Given the description of an element on the screen output the (x, y) to click on. 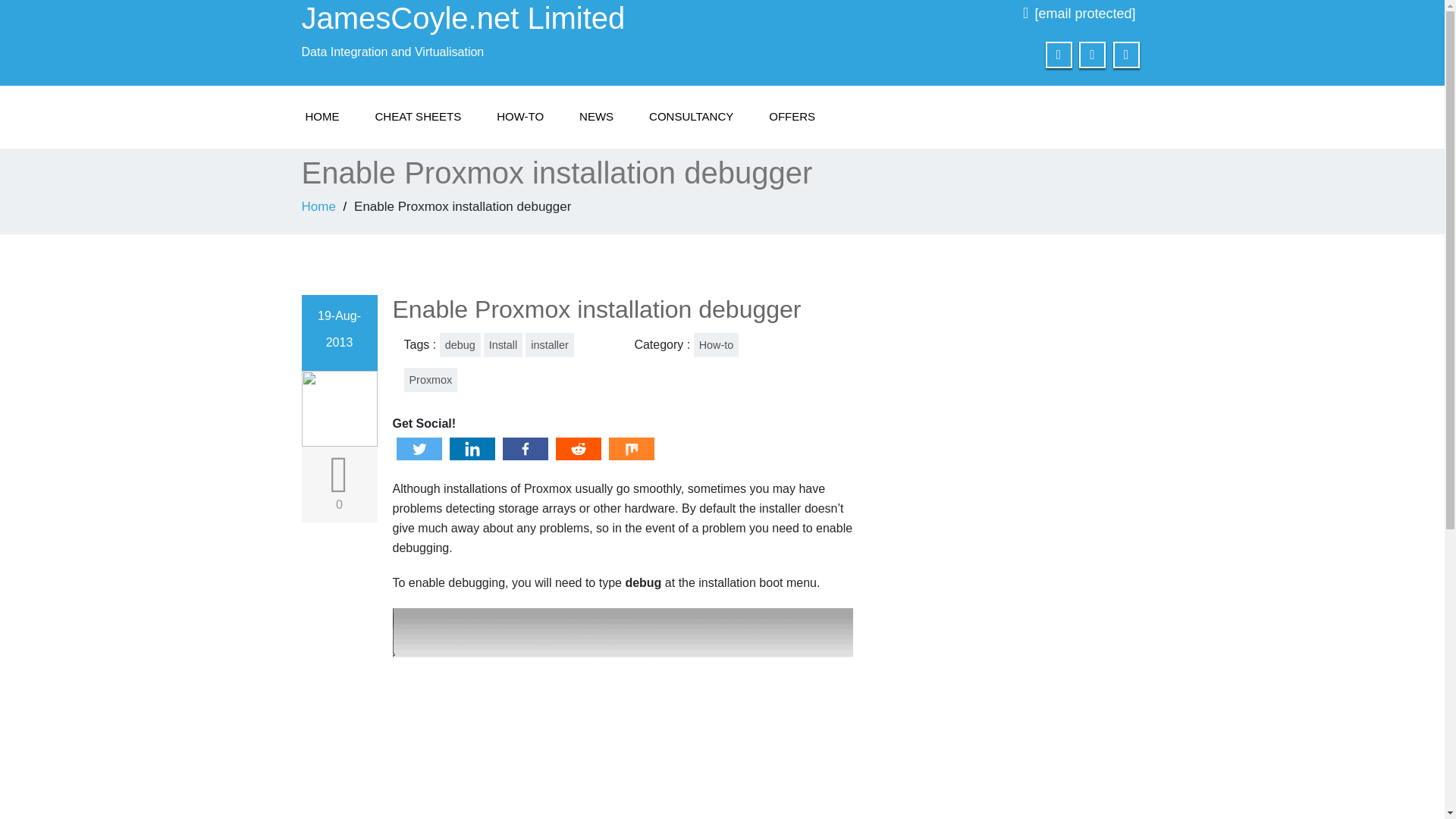
Twitter (419, 448)
Linkedin (471, 448)
Install (502, 344)
gplus (1126, 54)
HOW-TO (520, 116)
Proxmox (430, 379)
CHEAT SHEETS (417, 116)
JamesCoyle.net Limited (506, 18)
installer (549, 344)
Facebook (525, 448)
OFFERS (791, 116)
Reddit (578, 448)
debug (459, 344)
NEWS (596, 116)
JamesCoyle.net Limited (506, 18)
